Given the description of an element on the screen output the (x, y) to click on. 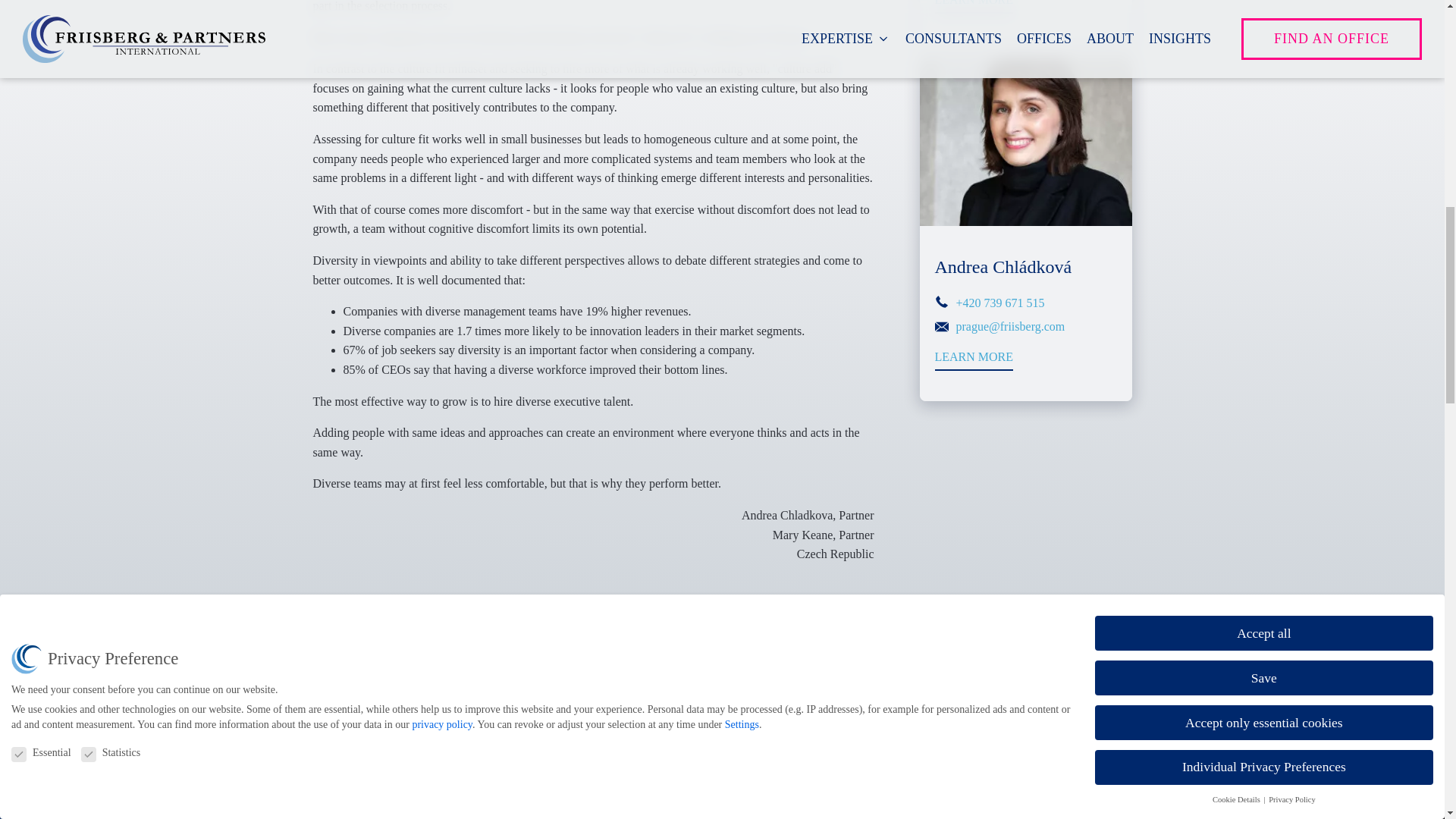
LEARN MORE (973, 6)
FRIISBERG (1062, 694)
LEARN MORE (973, 361)
